Given the description of an element on the screen output the (x, y) to click on. 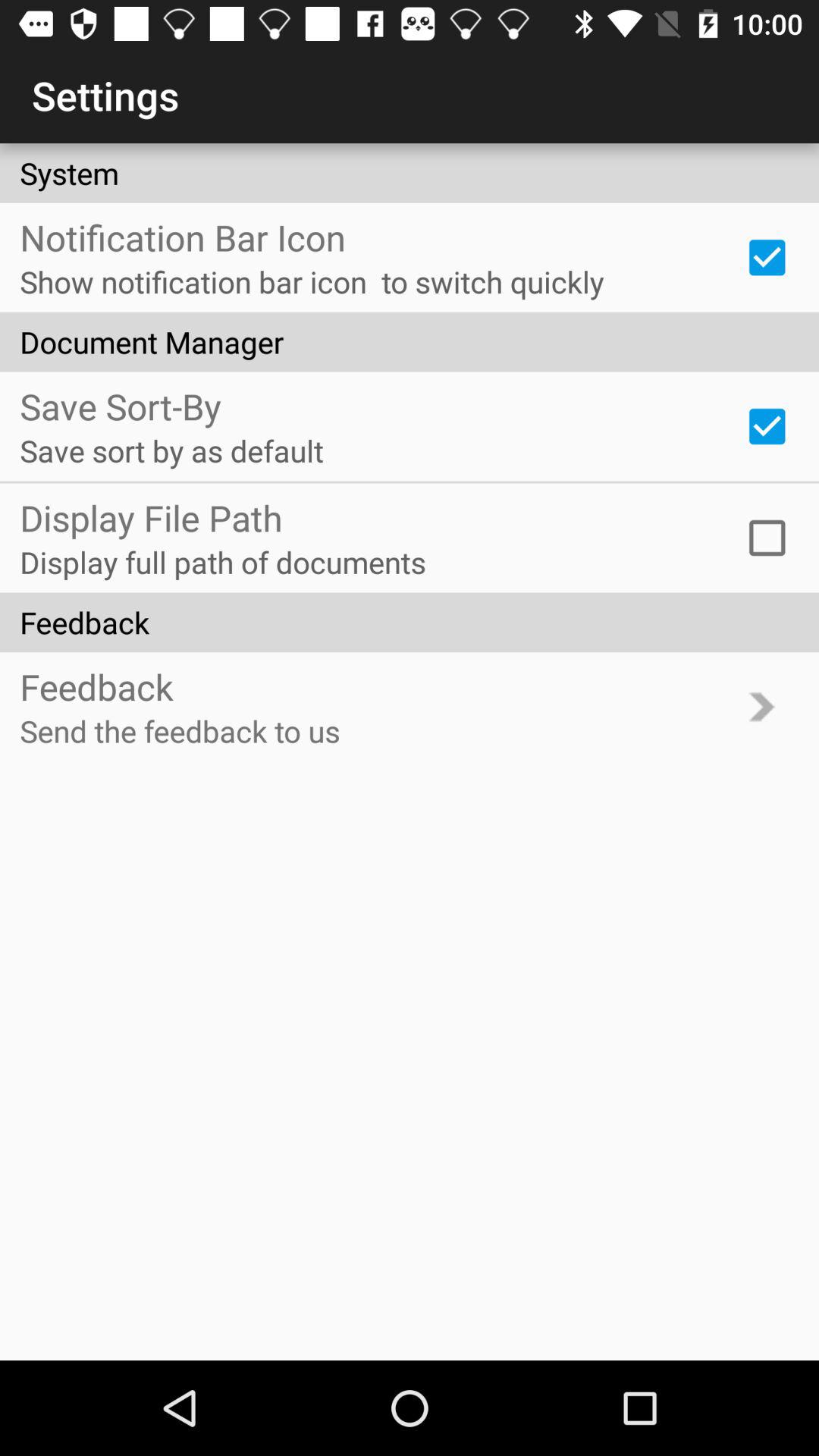
toggle notification bar icon (767, 257)
